Given the description of an element on the screen output the (x, y) to click on. 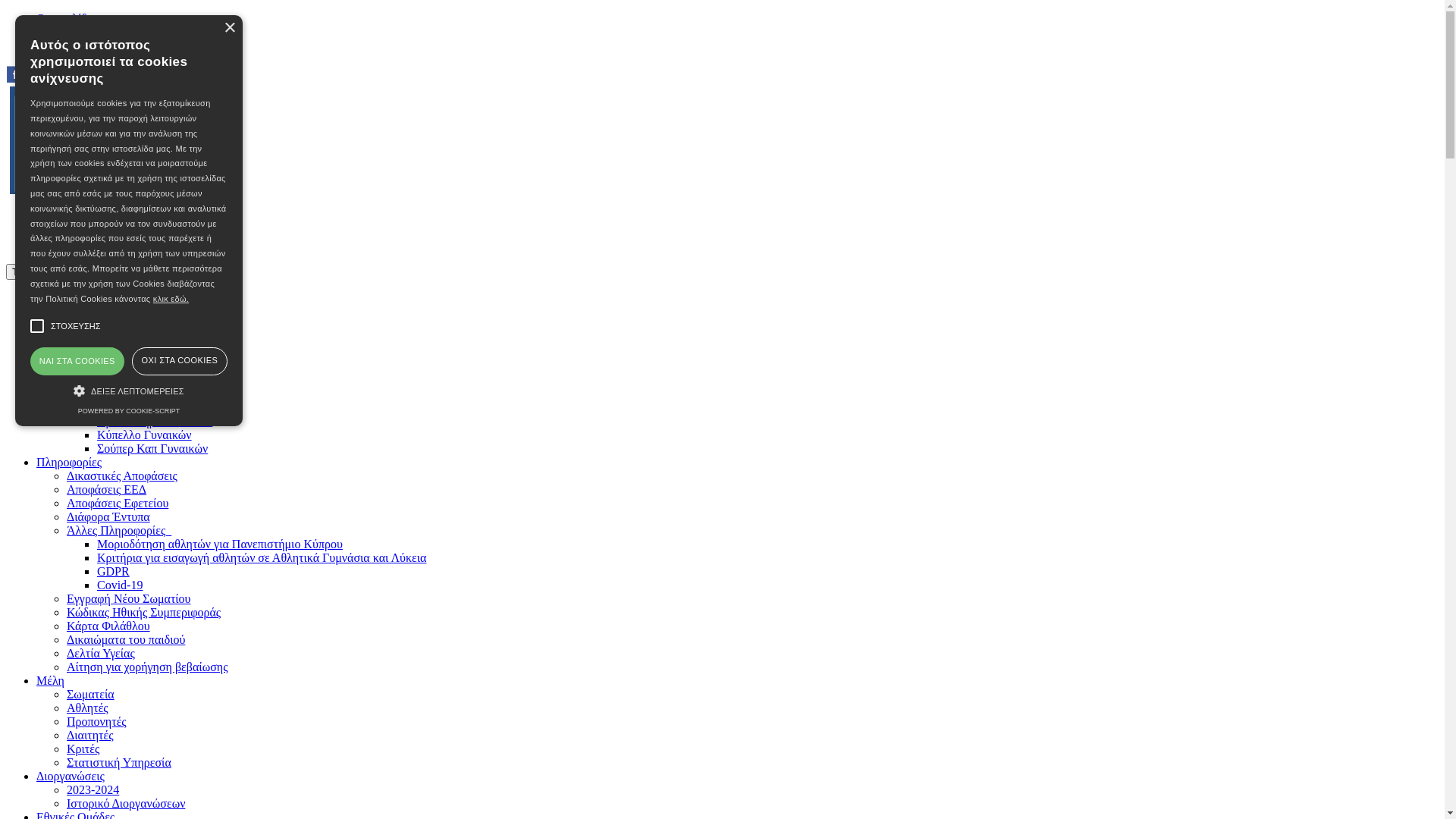
Toggle navigation Element type: text (51, 271)
2023-2024 Element type: text (92, 789)
POWERED BY COOKIE-SCRIPT Element type: text (128, 410)
Covid-19 Element type: text (119, 584)
GDPR Element type: text (113, 570)
